Given the description of an element on the screen output the (x, y) to click on. 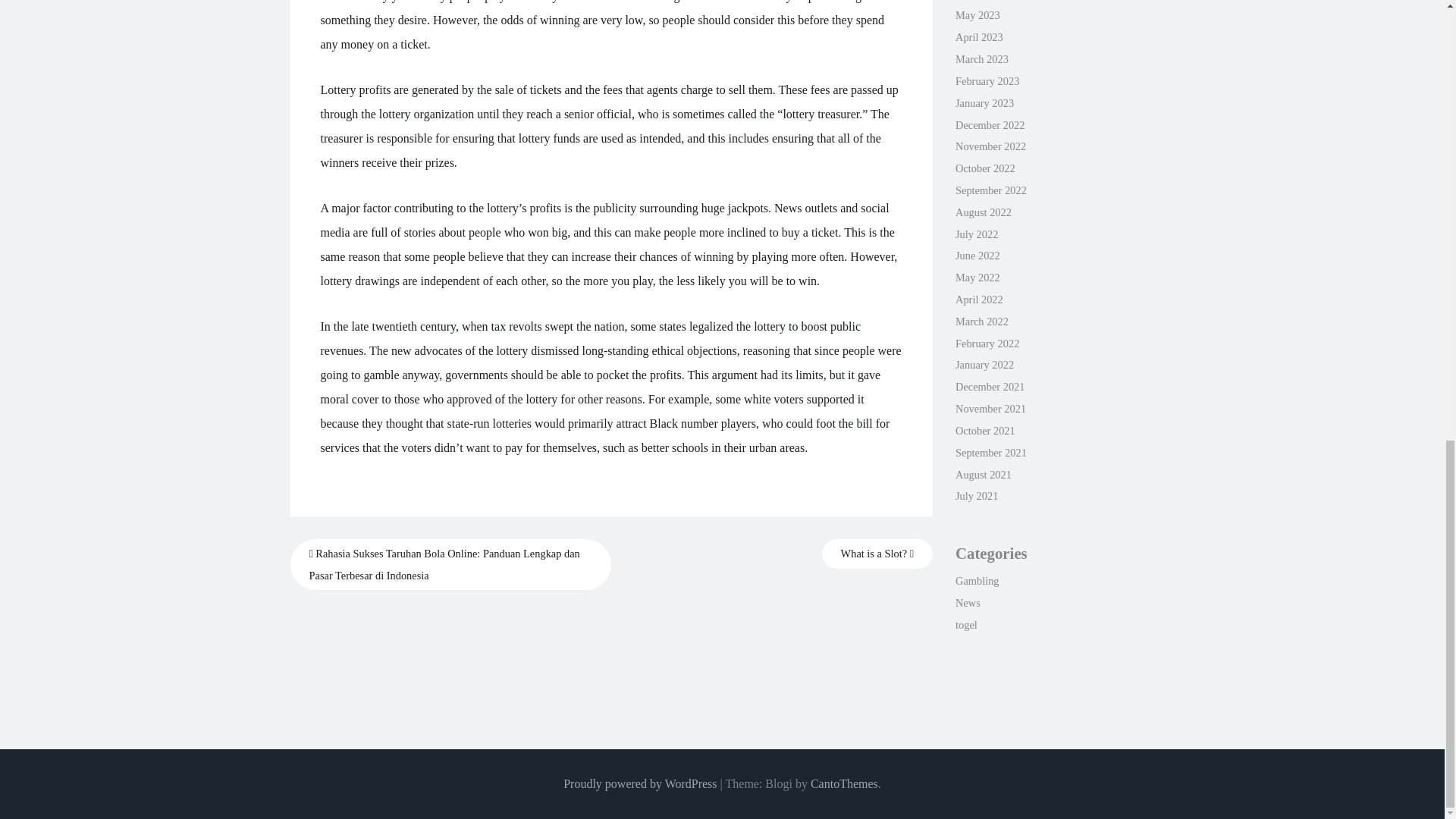
November 2022 (990, 146)
March 2023 (982, 59)
December 2022 (990, 124)
September 2022 (990, 190)
What is a Slot? (877, 553)
May 2023 (977, 15)
August 2022 (983, 212)
July 2022 (976, 234)
February 2023 (987, 80)
October 2022 (984, 168)
April 2023 (979, 37)
January 2023 (984, 102)
